Given the description of an element on the screen output the (x, y) to click on. 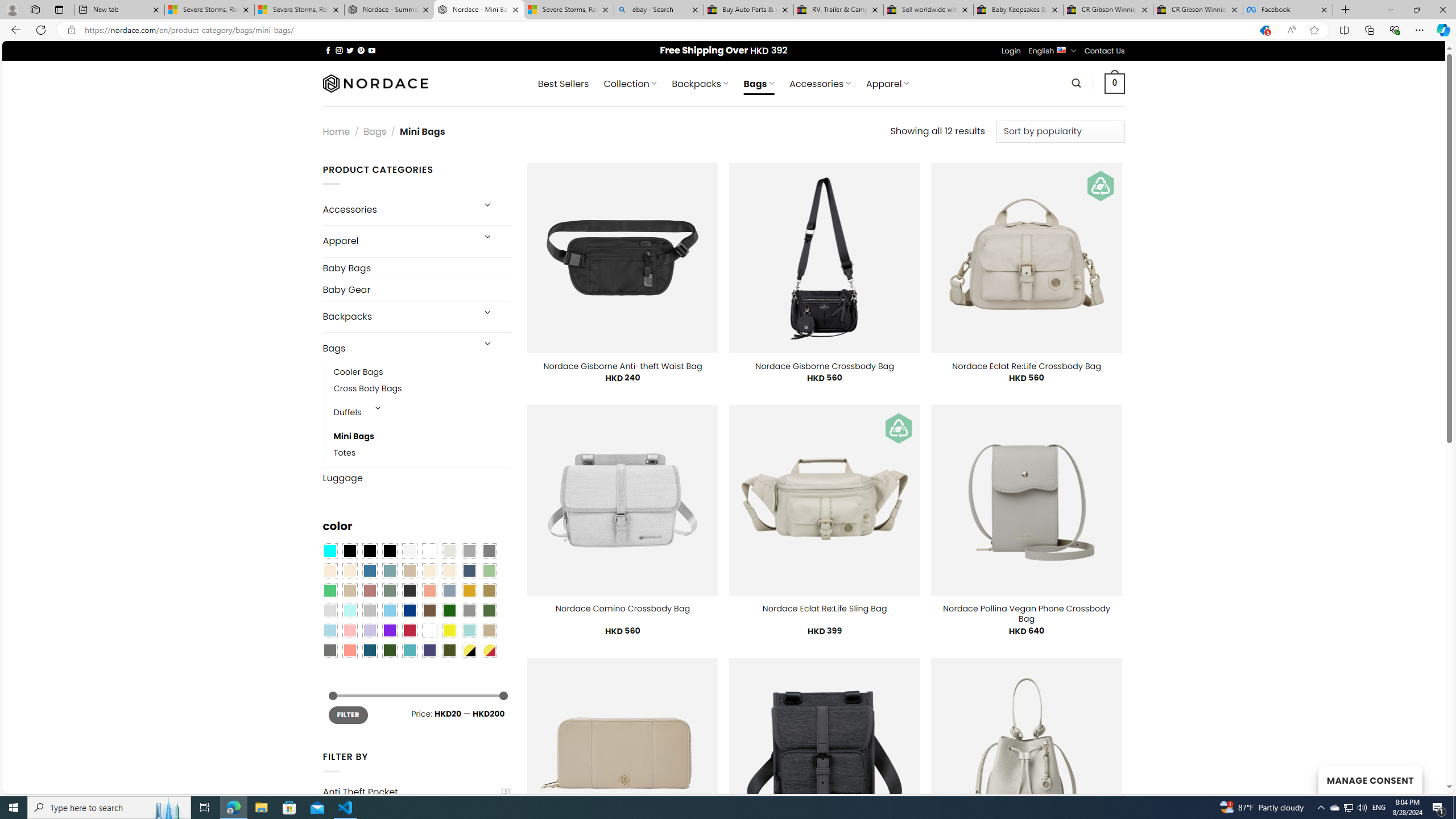
Login (1010, 50)
Baby Keepsakes & Announcements for sale | eBay (1018, 9)
Brownie (408, 570)
Follow on Pinterest (360, 49)
Dusty Blue (449, 590)
Mini Bags (353, 436)
RV, Trailer & Camper Steps & Ladders for sale | eBay (838, 9)
Bags (397, 348)
Shop order (1060, 131)
Teal (408, 649)
